Given the description of an element on the screen output the (x, y) to click on. 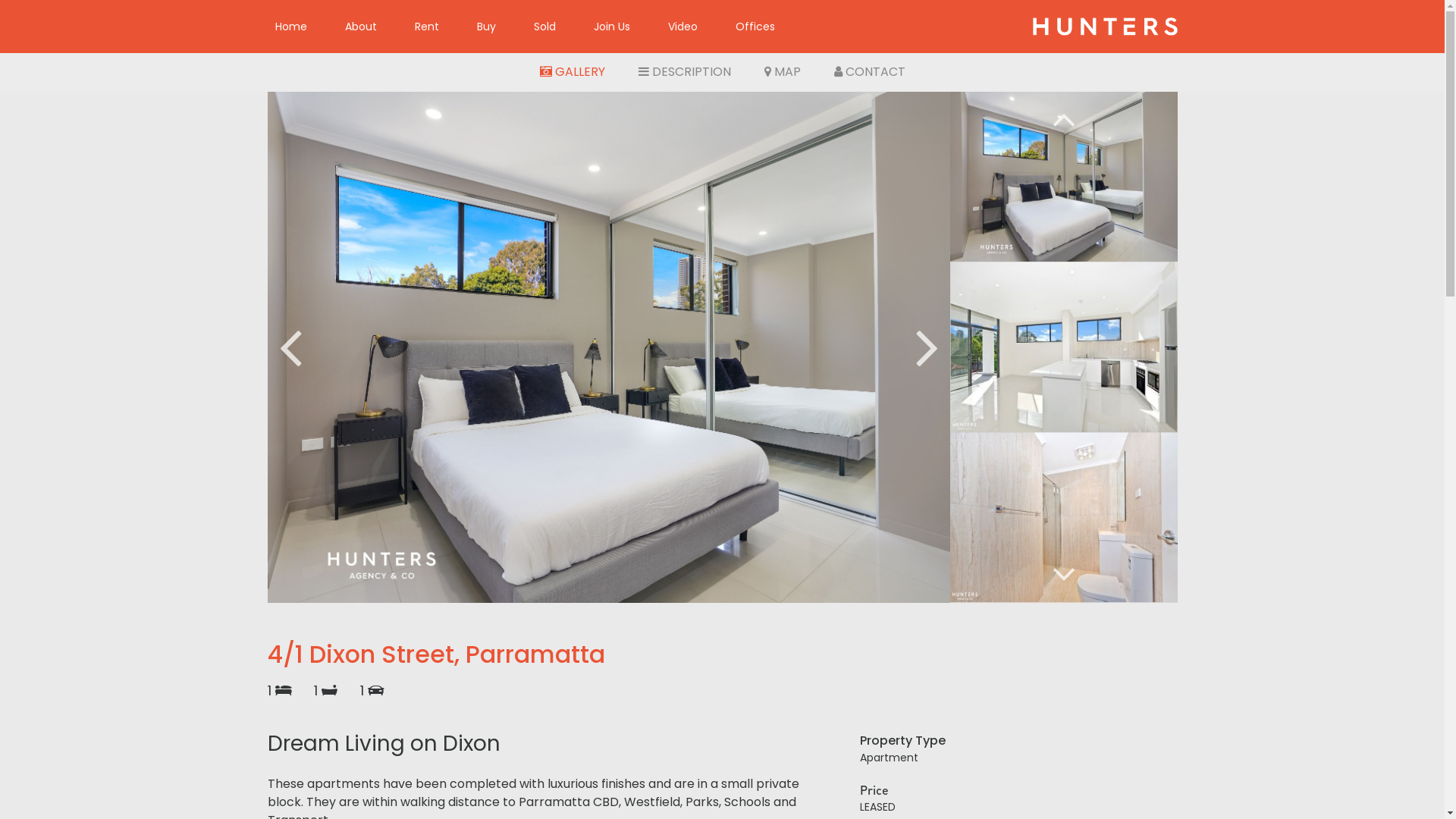
Hunters Agency & Co -  Element type: hover (1104, 26)
Video Element type: text (682, 26)
About Element type: text (360, 26)
Rent Element type: text (426, 26)
Sold Element type: text (544, 26)
Offices Element type: text (754, 26)
Buy Element type: text (486, 26)
Join Us Element type: text (611, 26)
Home Element type: text (291, 26)
MAP Element type: text (782, 71)
CONTACT Element type: text (869, 71)
GALLERY Element type: text (572, 71)
DESCRIPTION Element type: text (684, 71)
